Given the description of an element on the screen output the (x, y) to click on. 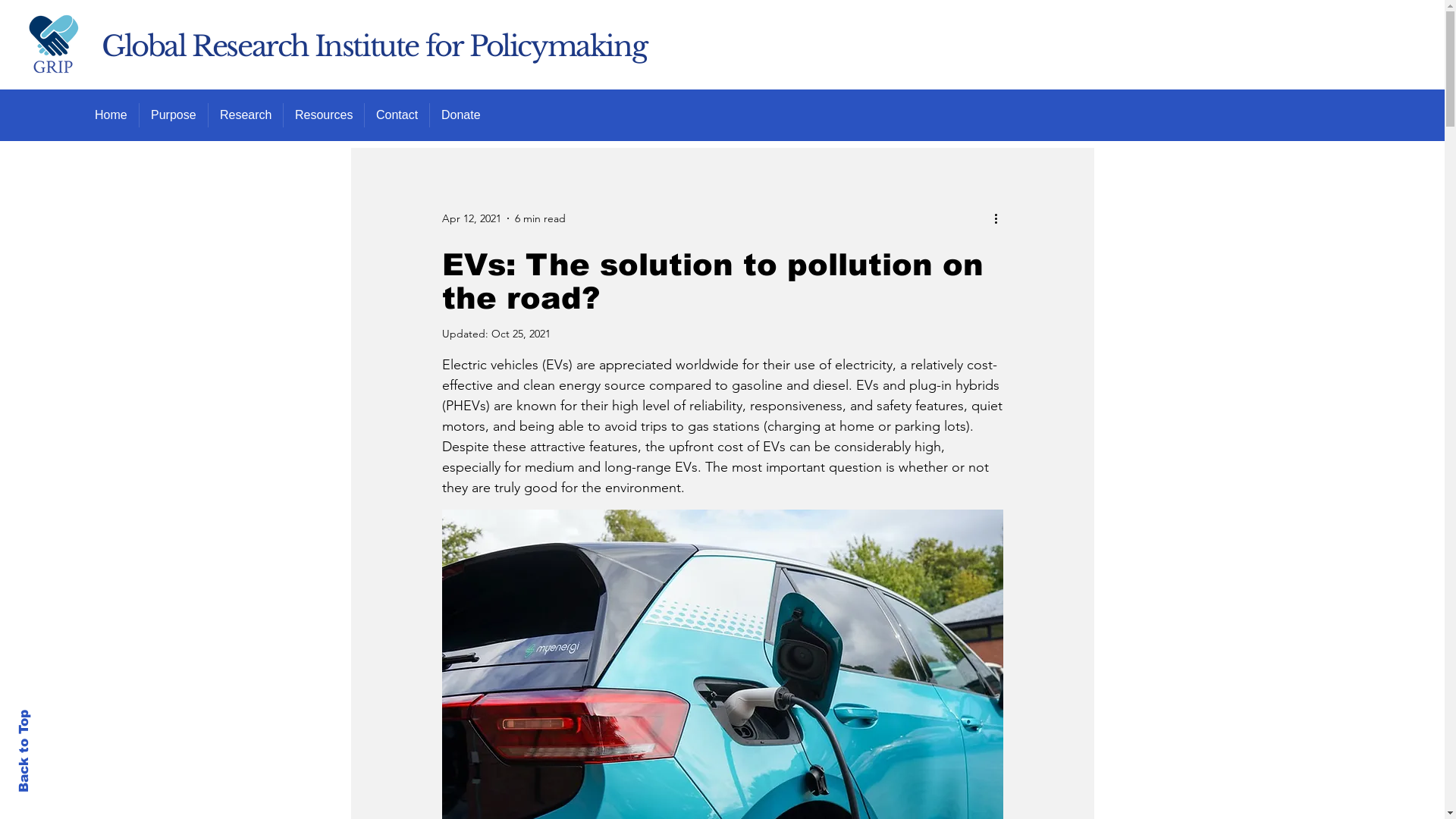
Research Element type: text (244, 115)
Back to Top Element type: text (57, 716)
Contact Element type: text (396, 115)
Purpose Element type: text (172, 115)
Home Element type: text (110, 115)
Resources Element type: text (323, 115)
Donate Element type: text (460, 115)
